Given the description of an element on the screen output the (x, y) to click on. 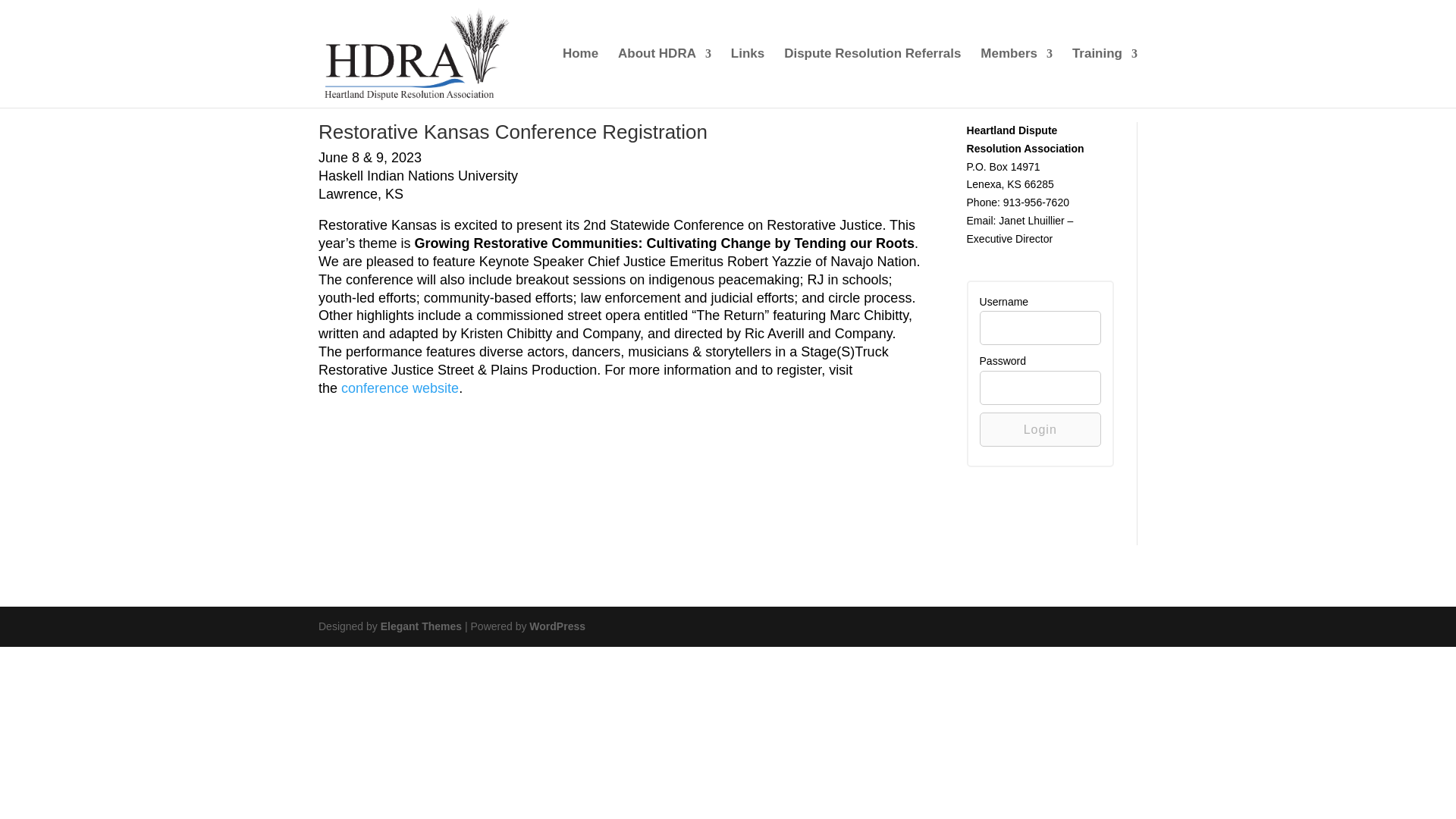
WordPress (557, 625)
Please enter password (1039, 387)
conference website (399, 387)
Dispute Resolution Referrals (872, 77)
Elegant Themes (420, 625)
Login (1039, 429)
Please enter username (1039, 327)
Training (1104, 77)
About HDRA (664, 77)
Login (1039, 429)
